Given the description of an element on the screen output the (x, y) to click on. 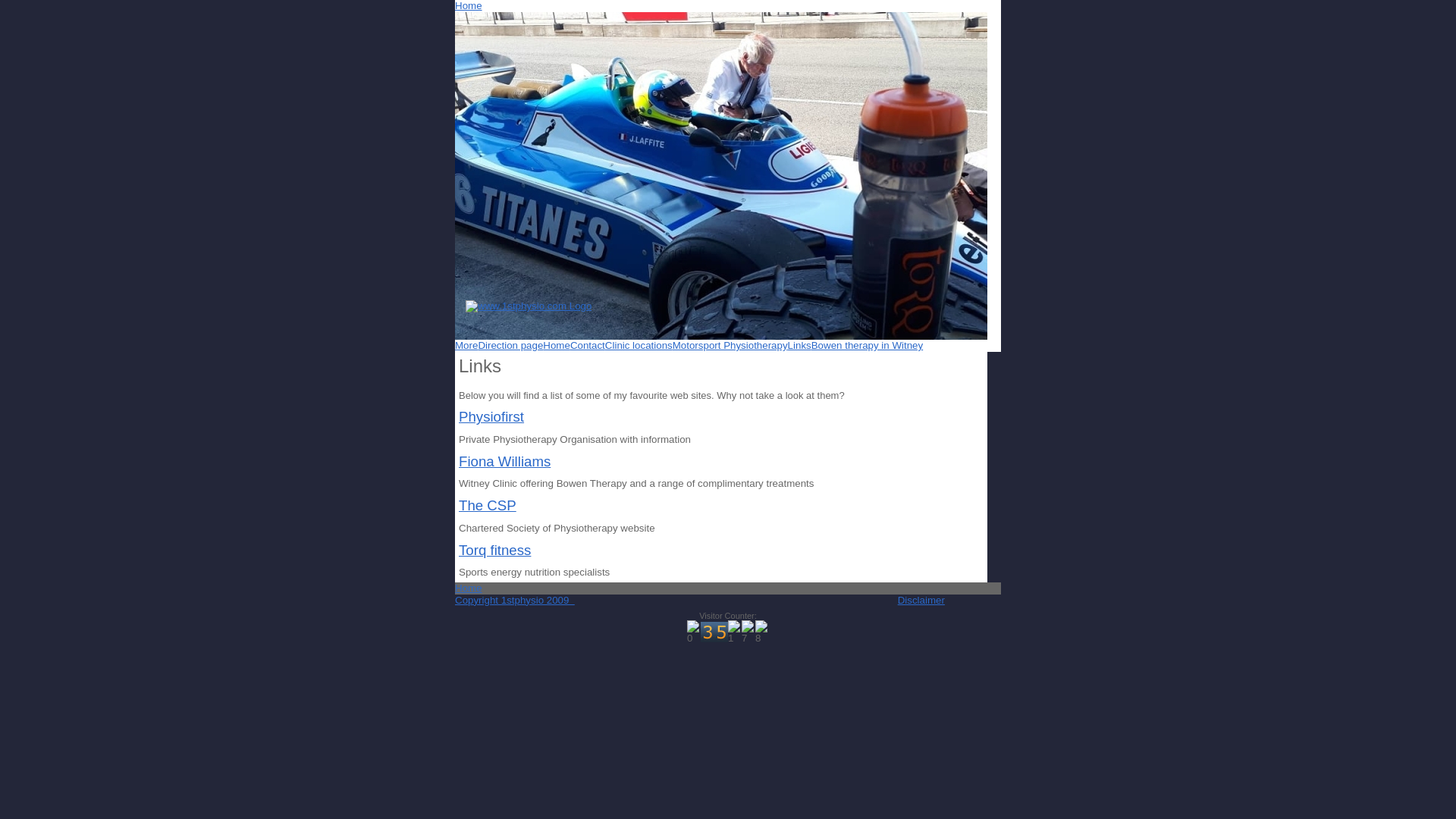
Home Element type: text (556, 345)
More Element type: text (466, 345)
Torq fitness Element type: text (494, 550)
Links Element type: text (799, 345)
Disclaimer Element type: text (920, 599)
Direction page Element type: text (509, 345)
Clinic locations Element type: text (638, 345)
The CSP Element type: text (487, 505)
Motorsport Physiotherapy Element type: text (729, 345)
Bowen therapy in Witney Element type: text (866, 345)
Physiofirst Element type: text (491, 416)
Home Element type: text (468, 587)
Contact Element type: text (587, 345)
Copyright 1stphysio 2009   Element type: text (514, 599)
Fiona Williams Element type: text (504, 461)
Home Element type: text (468, 5)
